Given the description of an element on the screen output the (x, y) to click on. 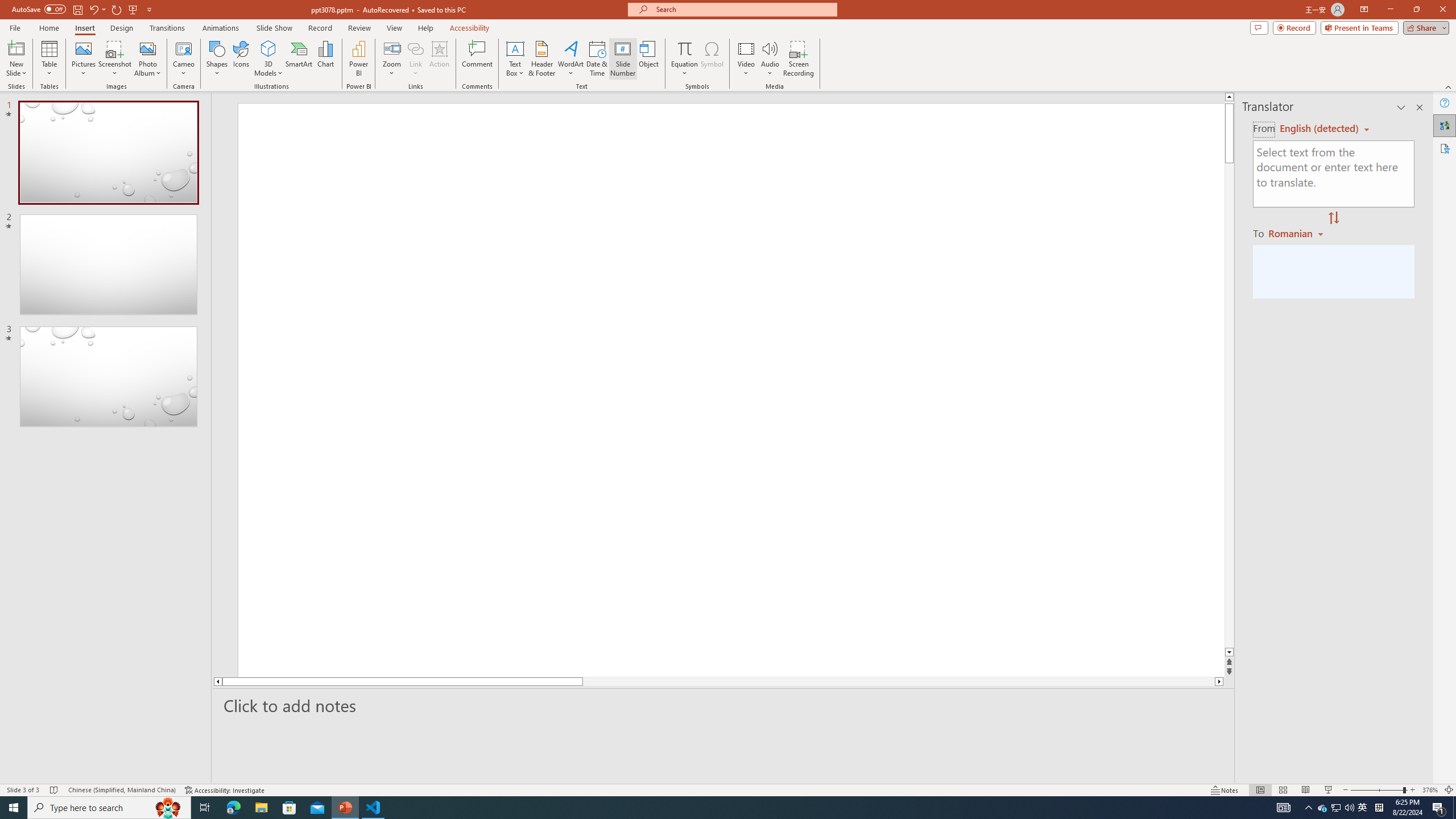
Chart... (325, 58)
Draw Horizontal Text Box (515, 48)
WordArt (570, 58)
